Given the description of an element on the screen output the (x, y) to click on. 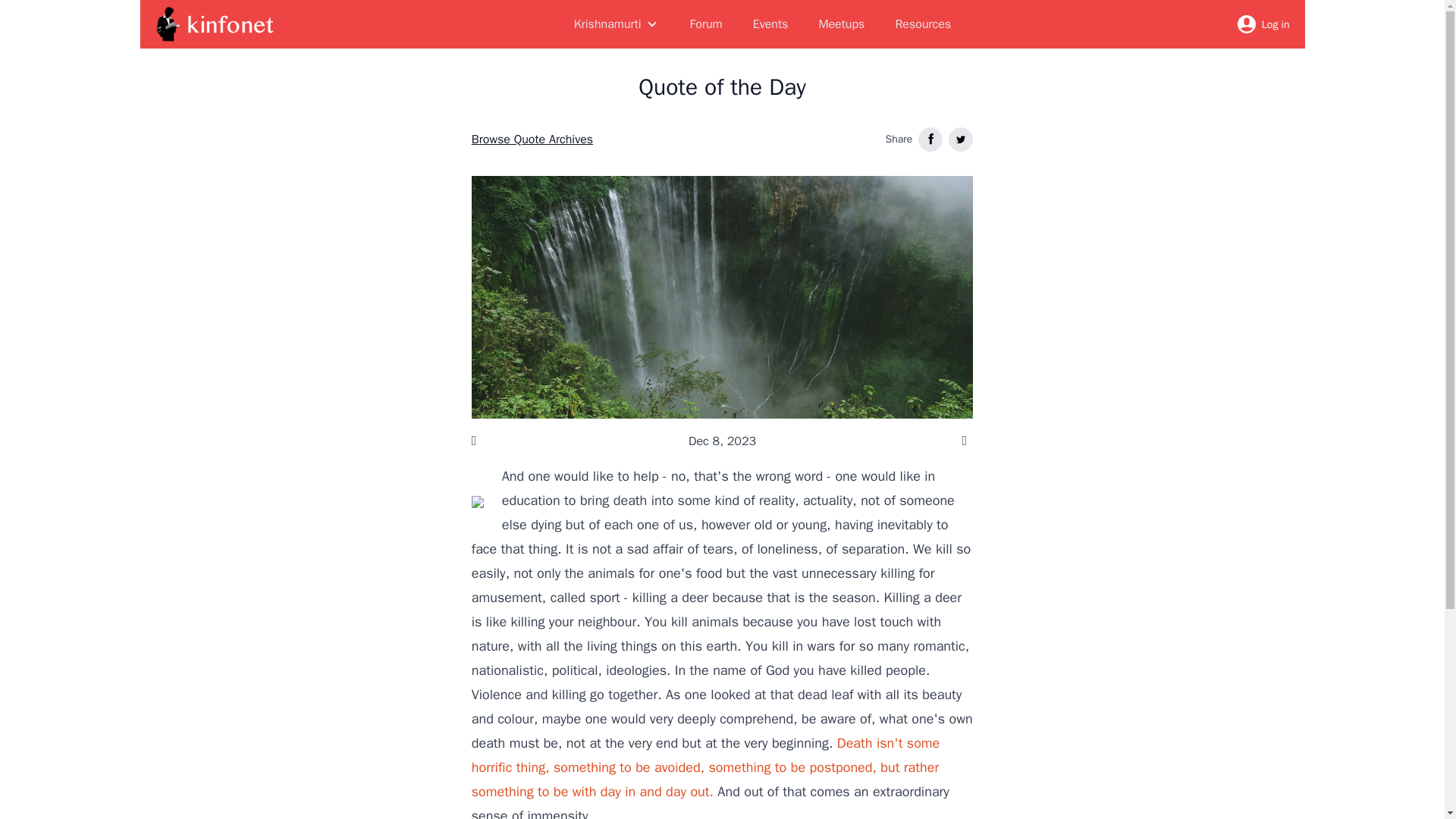
Browse Quote Archives (531, 138)
Forum (706, 24)
Meetups (841, 24)
Resources (922, 24)
Events (770, 24)
Krishnamurti (616, 23)
